Given the description of an element on the screen output the (x, y) to click on. 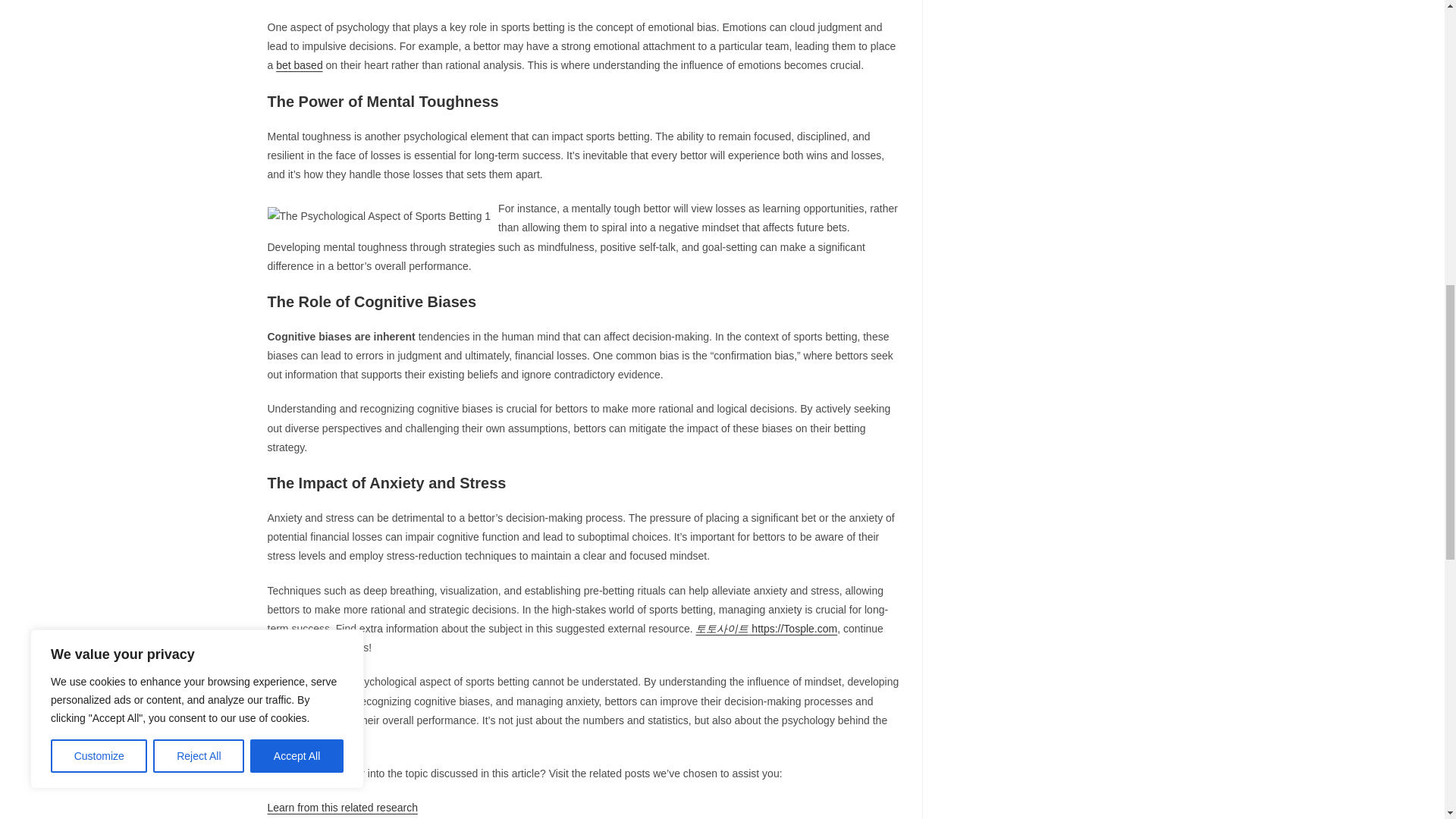
Learn from this related research (341, 807)
bet based (299, 64)
